Given the description of an element on the screen output the (x, y) to click on. 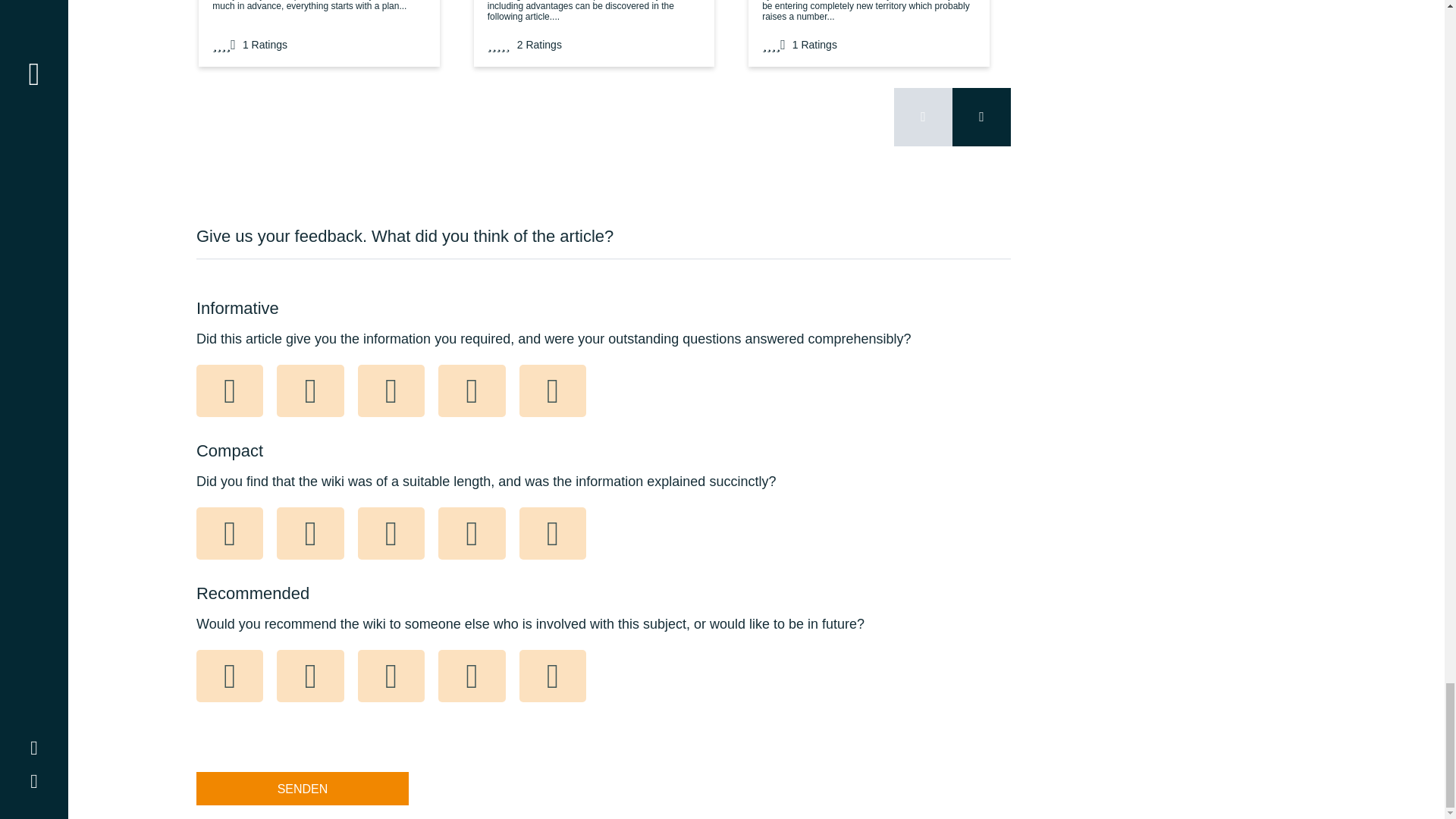
My expectations were not met. (229, 391)
My expectations were partially met. (309, 391)
4,3 (223, 44)
4,2 (499, 44)
4,7 (773, 44)
Senden (302, 788)
